Given the description of an element on the screen output the (x, y) to click on. 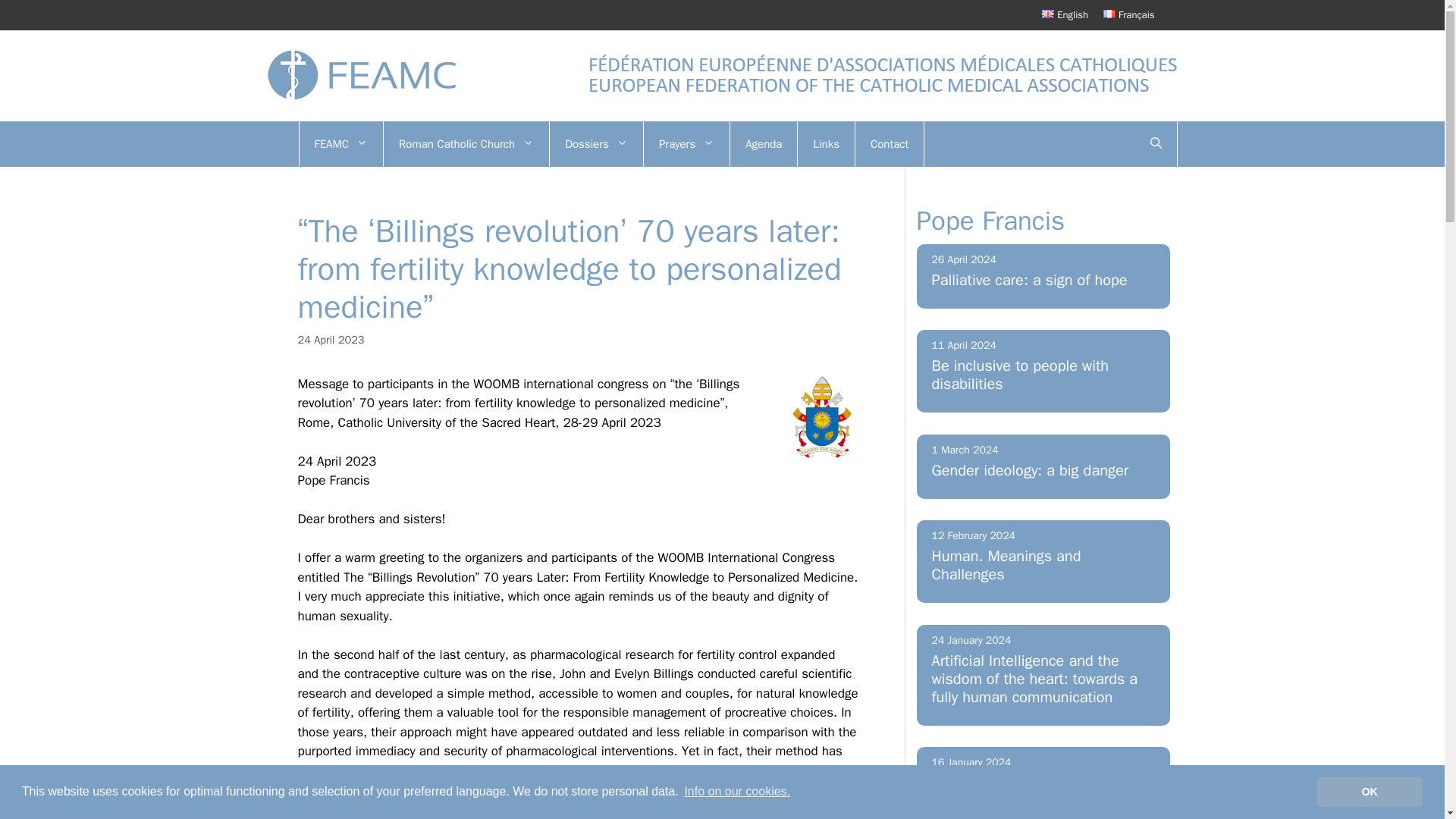
Info on our cookies. (736, 791)
Roman Catholic Church (465, 144)
Palliative care: a sign of hope (1028, 279)
Prayers (686, 144)
OK (1369, 791)
English (1064, 14)
Agenda (762, 144)
Dossiers (595, 144)
Links (824, 144)
FEAMC (341, 144)
Contact (888, 144)
